Given the description of an element on the screen output the (x, y) to click on. 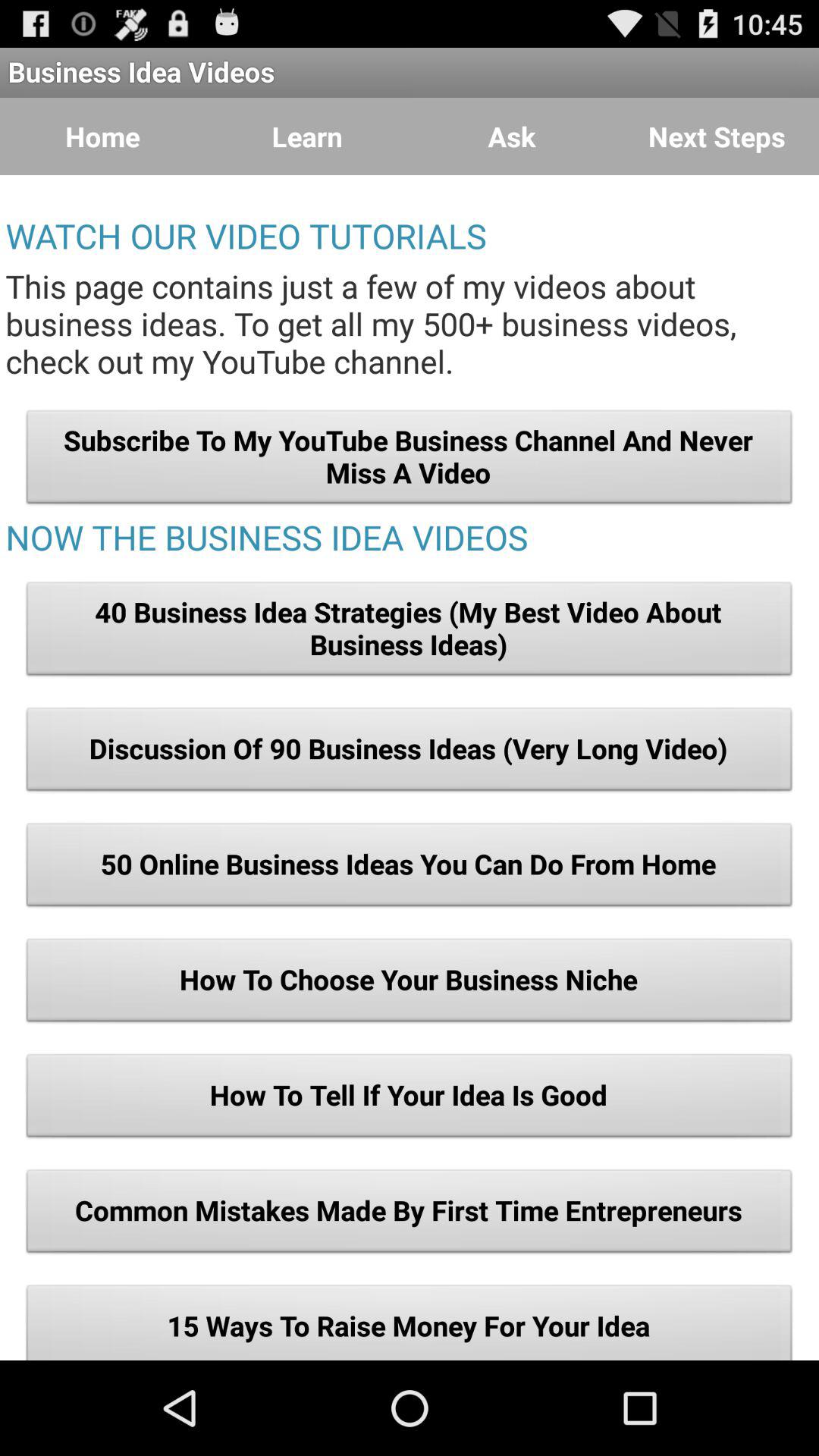
choose the item to the right of home icon (306, 136)
